Given the description of an element on the screen output the (x, y) to click on. 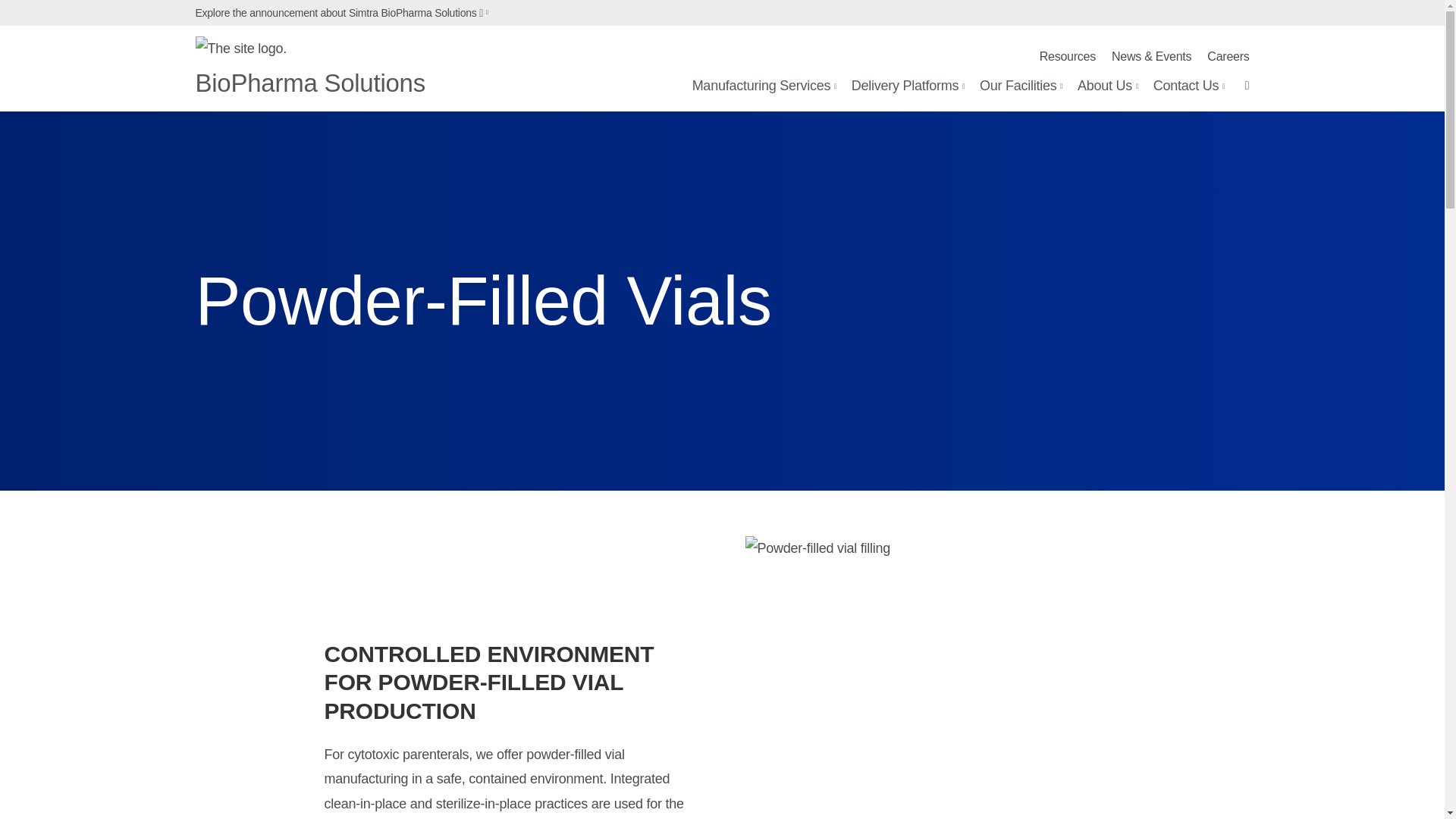
Careers (1228, 56)
Home (310, 85)
About Us (1107, 85)
BioPharma Solutions (310, 85)
Delivery Platforms (908, 85)
Manufacturing Services (765, 85)
Resources (1067, 56)
Our Facilities (1020, 85)
Explore the announcement about Simtra BioPharma Solutions (345, 13)
Contact Us (1189, 85)
